Given the description of an element on the screen output the (x, y) to click on. 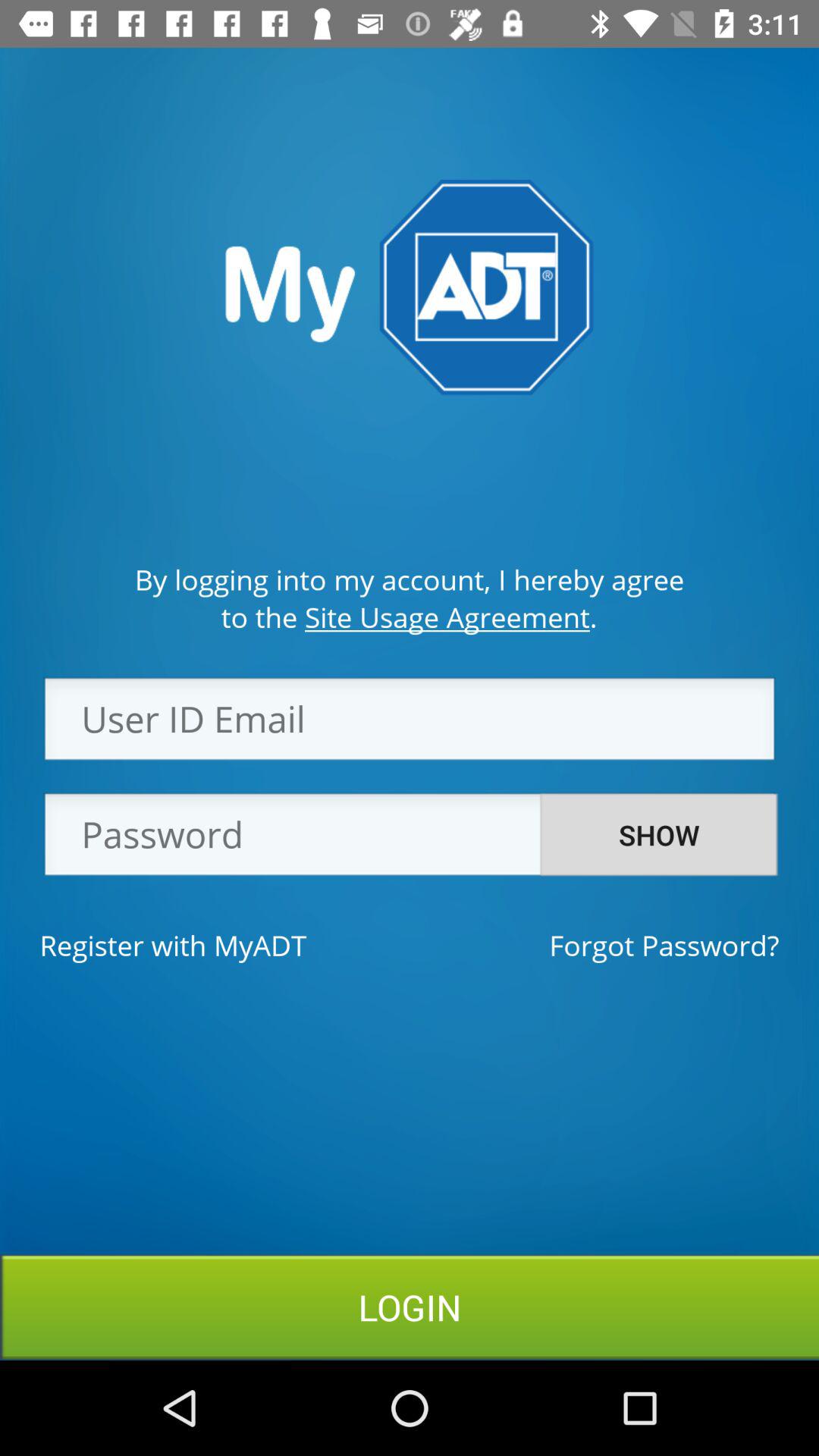
swipe to the login icon (409, 1307)
